Given the description of an element on the screen output the (x, y) to click on. 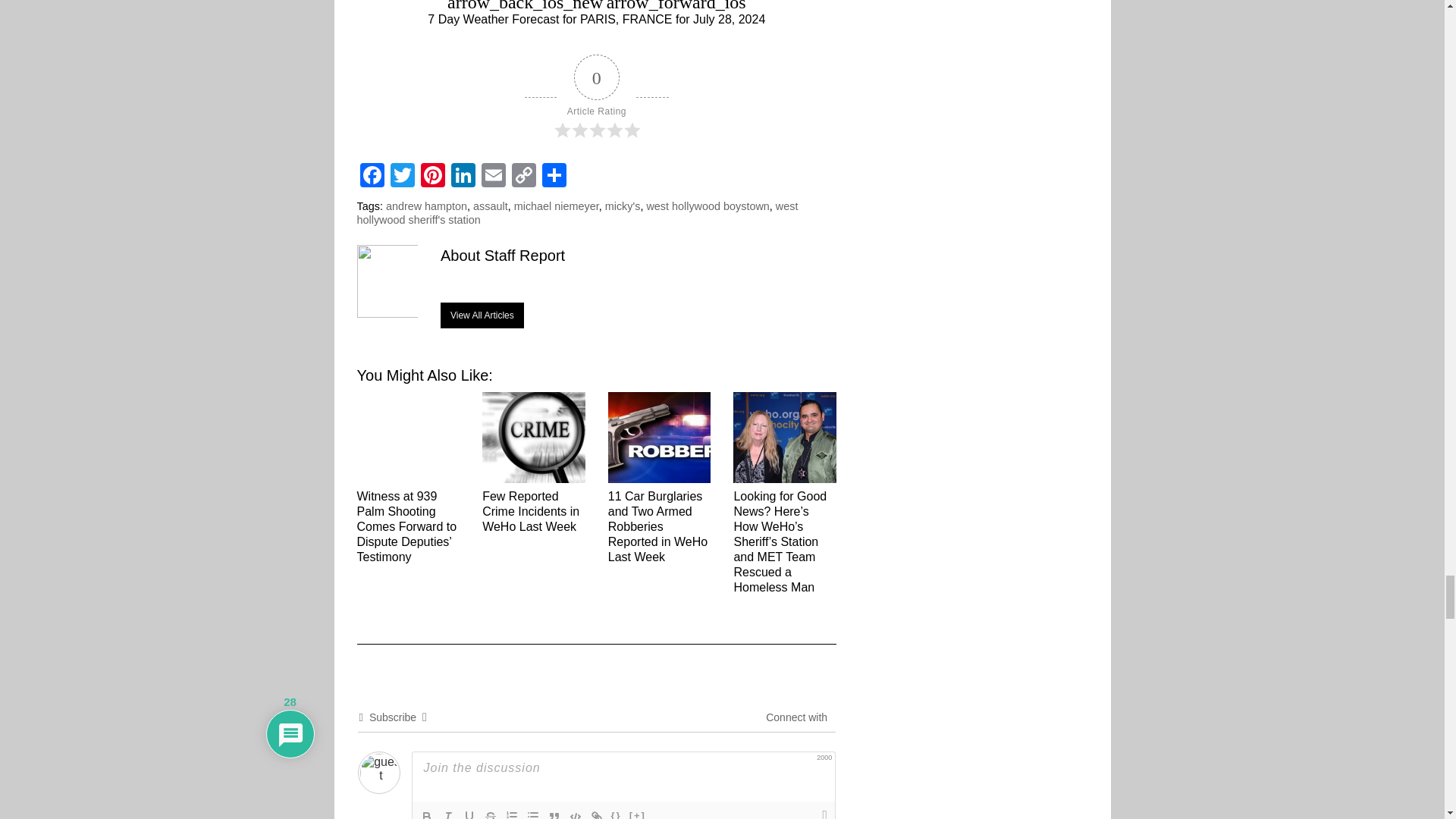
Italic (447, 813)
west hollywood sheriff's station (576, 212)
LinkedIn (461, 174)
Twitter (401, 174)
Bold (425, 813)
Underline (468, 813)
Twitter (401, 174)
Copy Link (523, 174)
Email (492, 174)
Copy Link (523, 174)
LinkedIn (461, 174)
Facebook (371, 174)
assault (490, 205)
michael niemeyer (555, 205)
